Given the description of an element on the screen output the (x, y) to click on. 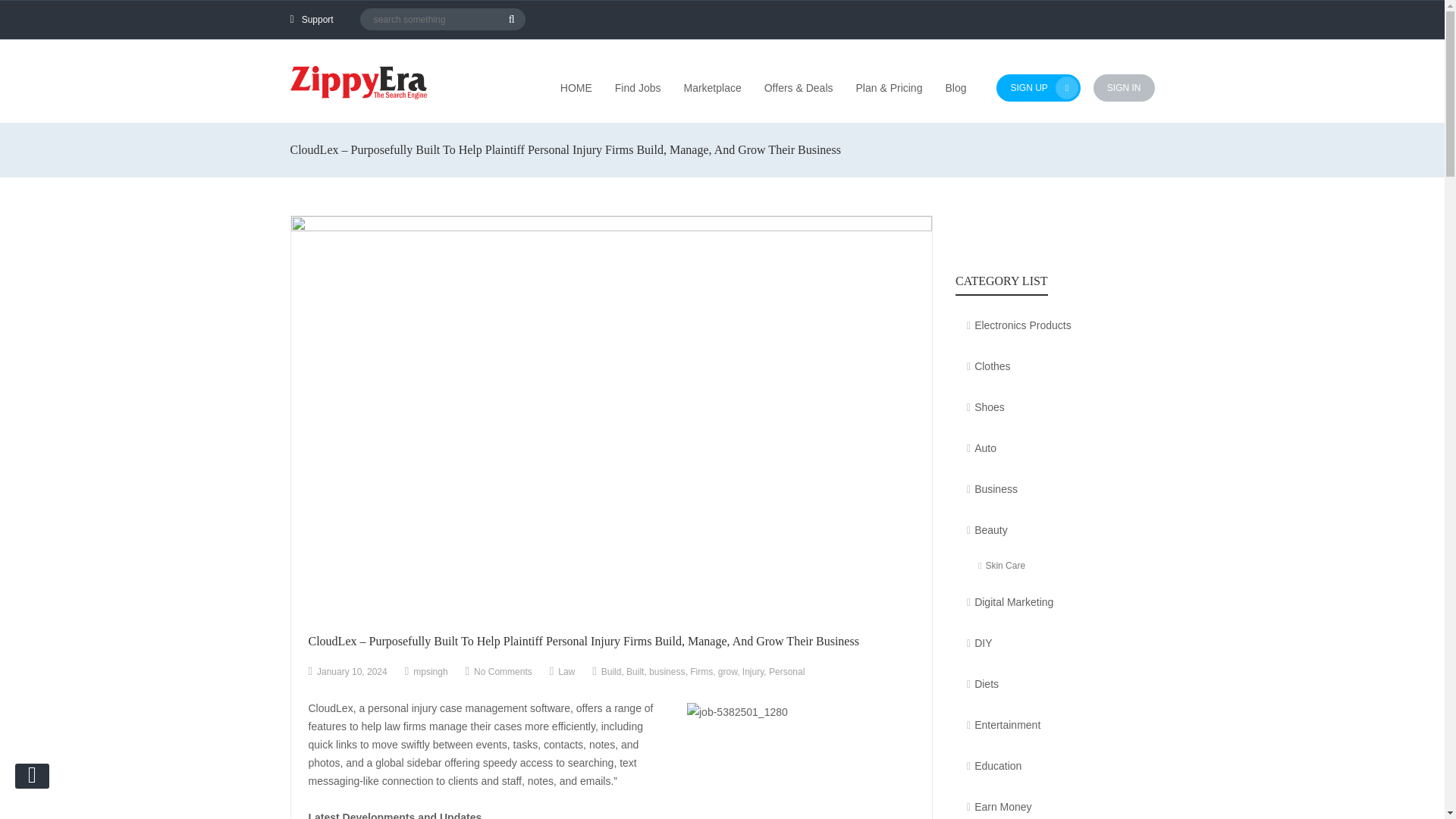
Find Jobs (637, 87)
Blog (955, 87)
Sign in (1123, 87)
SIGN IN (1123, 87)
SIGN UP (1037, 87)
Support (317, 19)
Marketplace (711, 87)
Posts by mpsingh (429, 671)
Sign up (1037, 87)
HOME (576, 87)
